Given the description of an element on the screen output the (x, y) to click on. 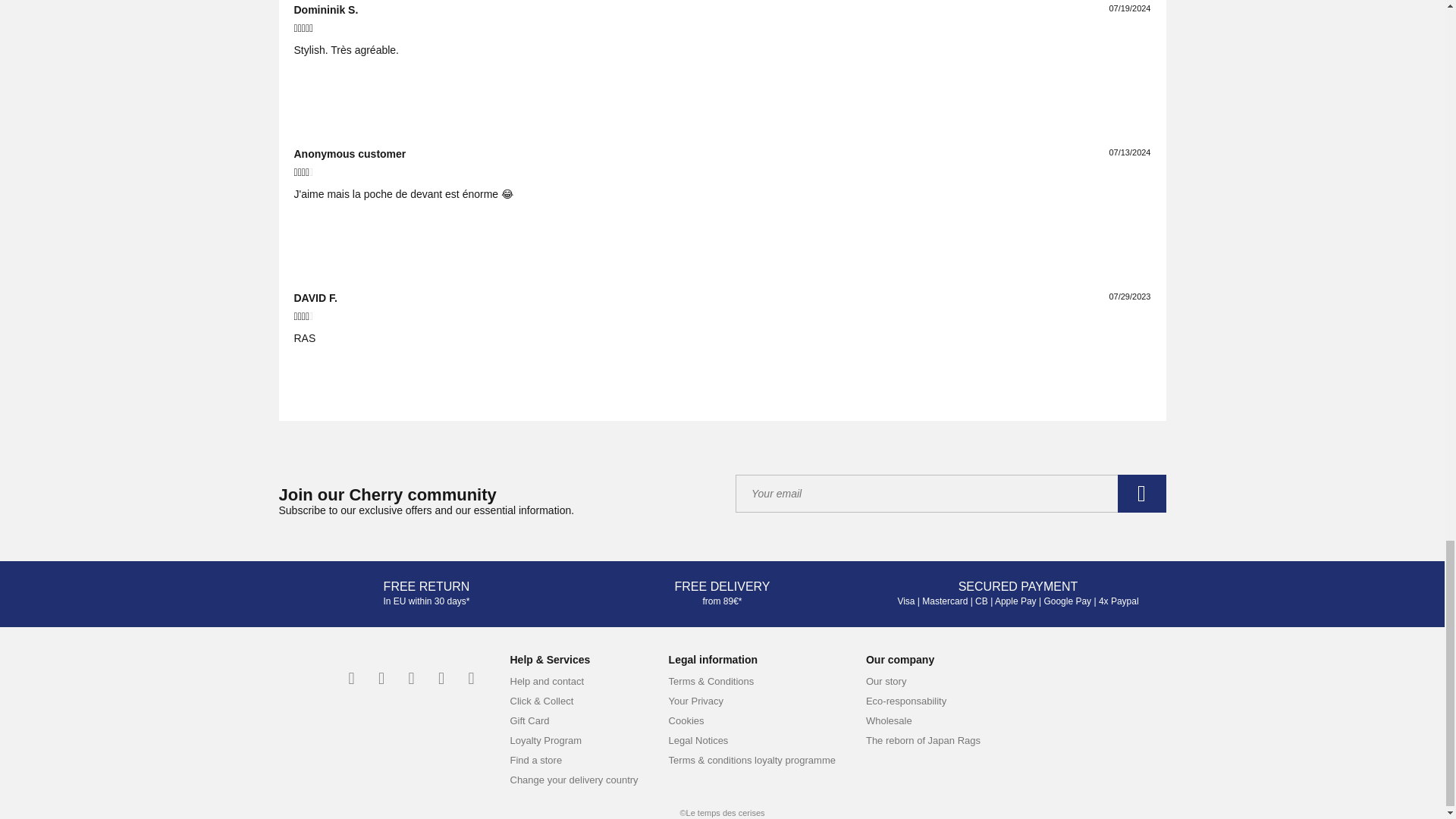
Subscribe (1142, 493)
